Given the description of an element on the screen output the (x, y) to click on. 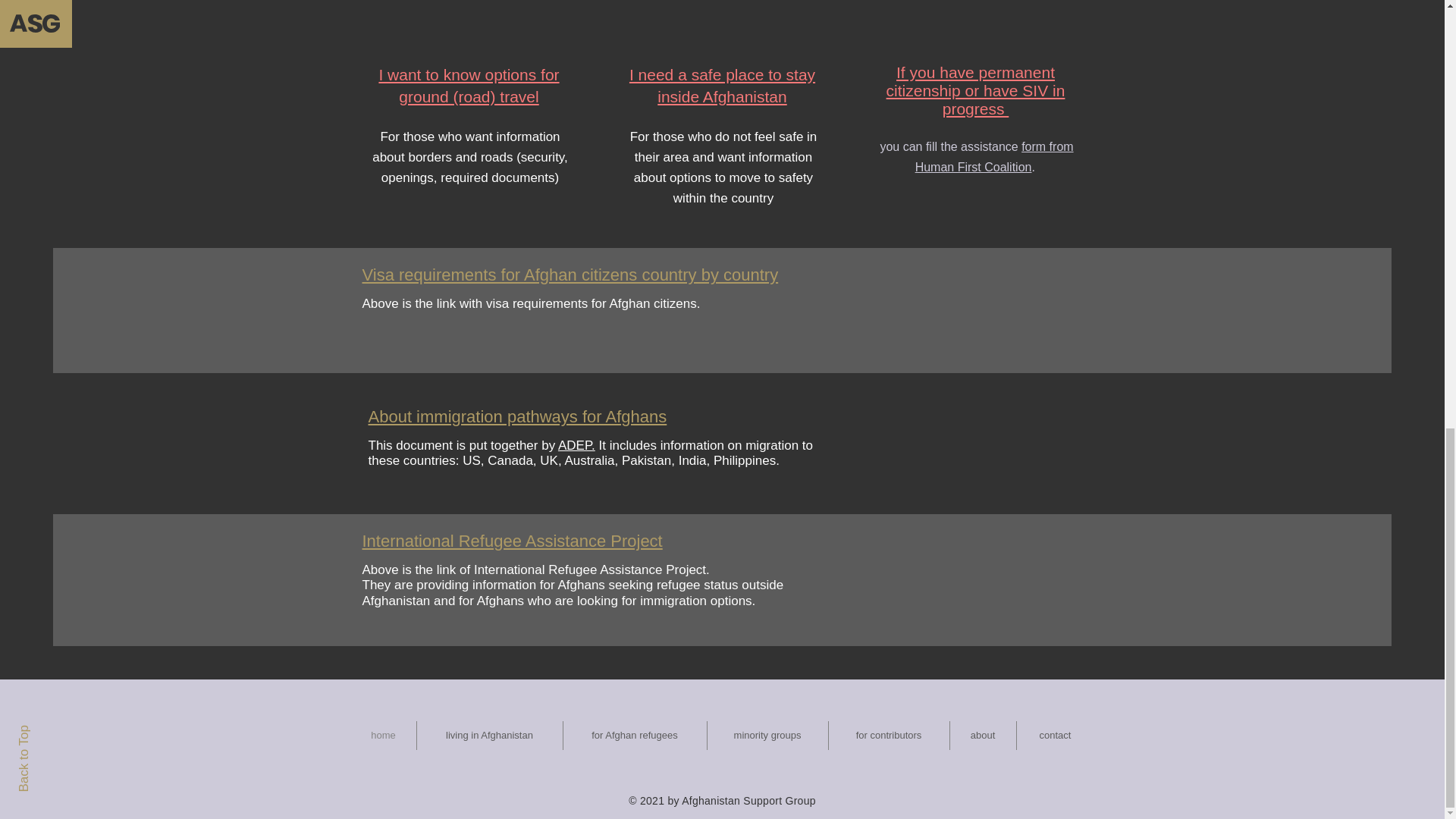
If you have permanent citizenship or have SIV in progress  (975, 90)
International Refugee Assistance Project (512, 540)
Visa requirements for Afghan citizens country by country (570, 274)
I need a safe place to stay inside Afghanistan (721, 85)
form from Human First Coalition (994, 156)
ADEP (574, 445)
About immigration pathways for Afghans (517, 416)
